Given the description of an element on the screen output the (x, y) to click on. 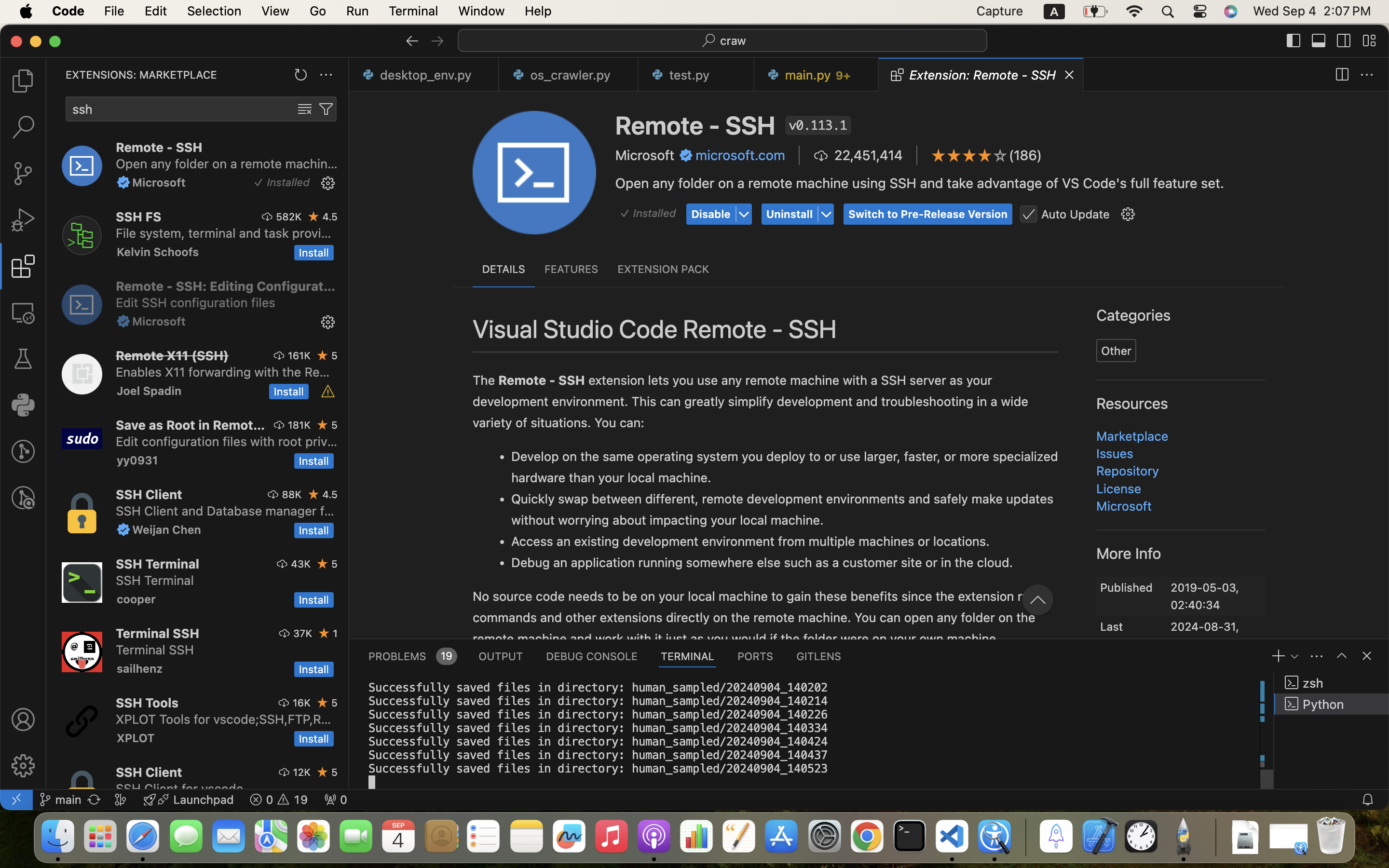
Open any folder on a remote machine using SSH and take advantage of VS Code's full feature set. Element type: AXStaticText (226, 163)
1 Extension: Remote - SSH   Element type: AXRadioButton (972, 74)
Resources Element type: AXStaticText (1132, 403)
 Element type: AXButton (1341, 74)
Auto Update Element type: AXStaticText (1075, 214)
